Given the description of an element on the screen output the (x, y) to click on. 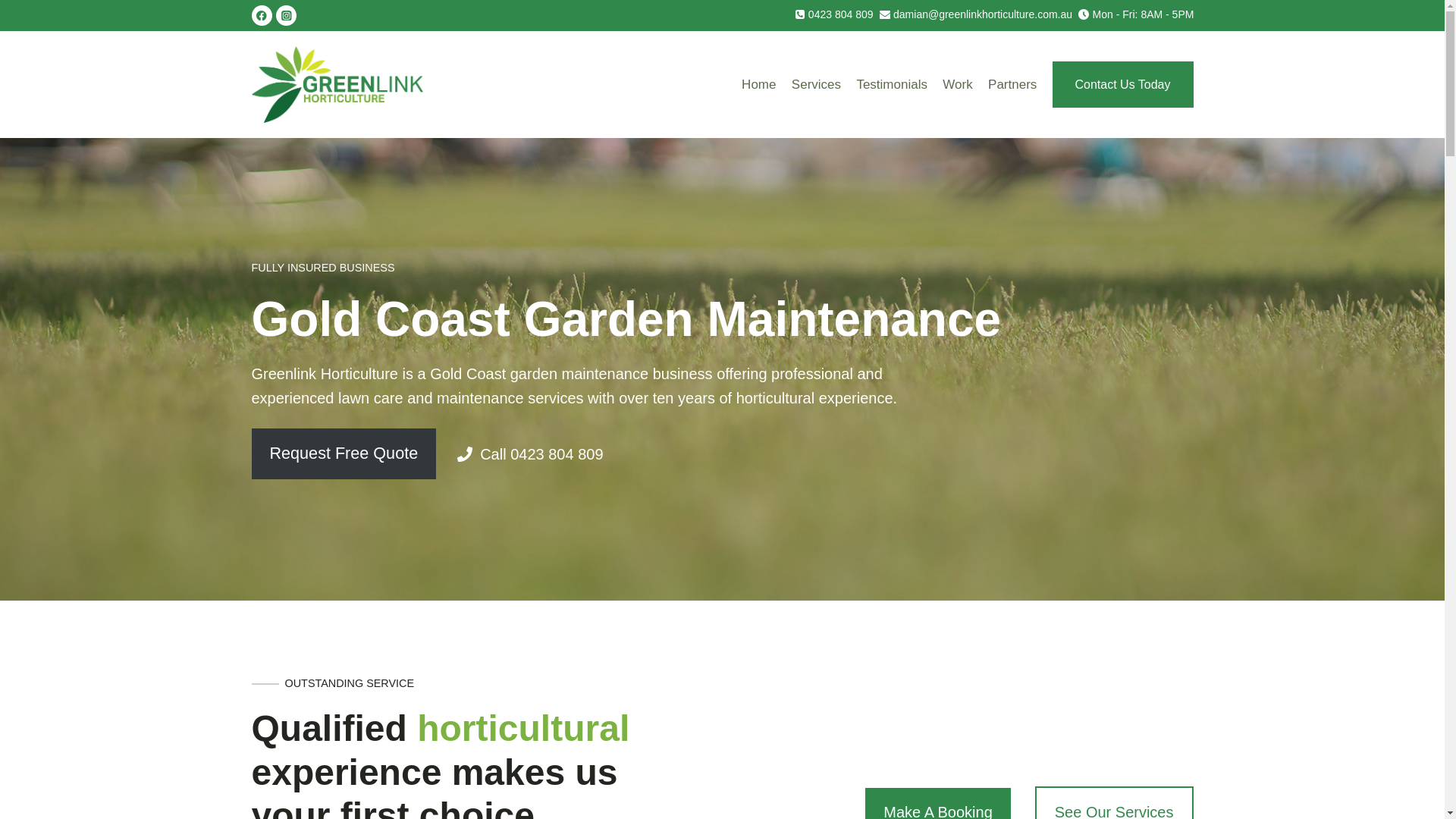
0423 804 809 Element type: text (833, 14)
Partners Element type: text (1012, 84)
Services Element type: text (816, 84)
Home Element type: text (759, 84)
Testimonials Element type: text (891, 84)
Call 0423 804 809 Element type: text (530, 454)
Contact Us Today Element type: text (1122, 84)
Request Free Quote Element type: text (343, 453)
Work Element type: text (957, 84)
damian@greenlinkhorticulture.com.au Element type: text (975, 14)
